Given the description of an element on the screen output the (x, y) to click on. 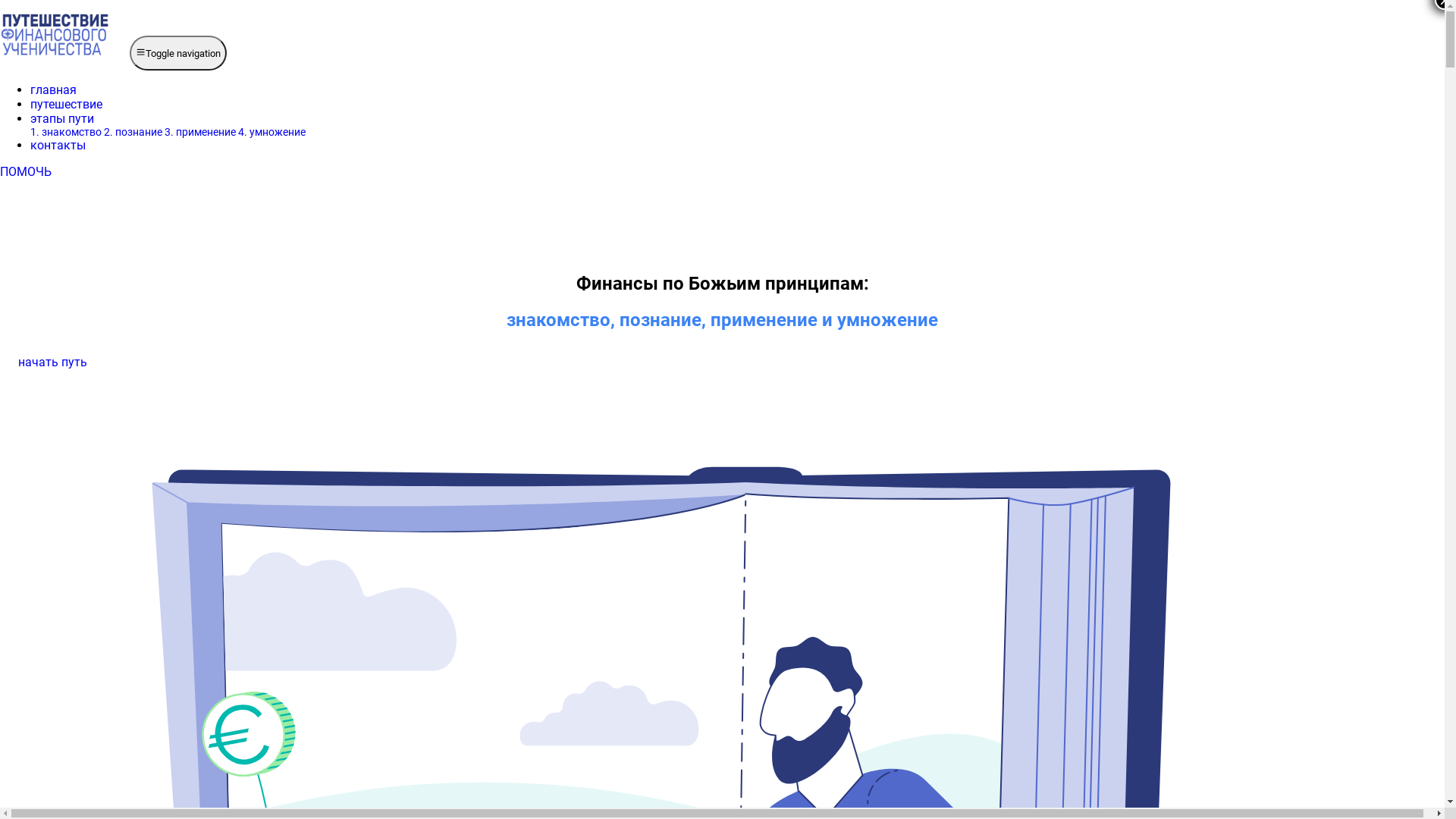
Toggle navigation Element type: text (177, 52)
